Given the description of an element on the screen output the (x, y) to click on. 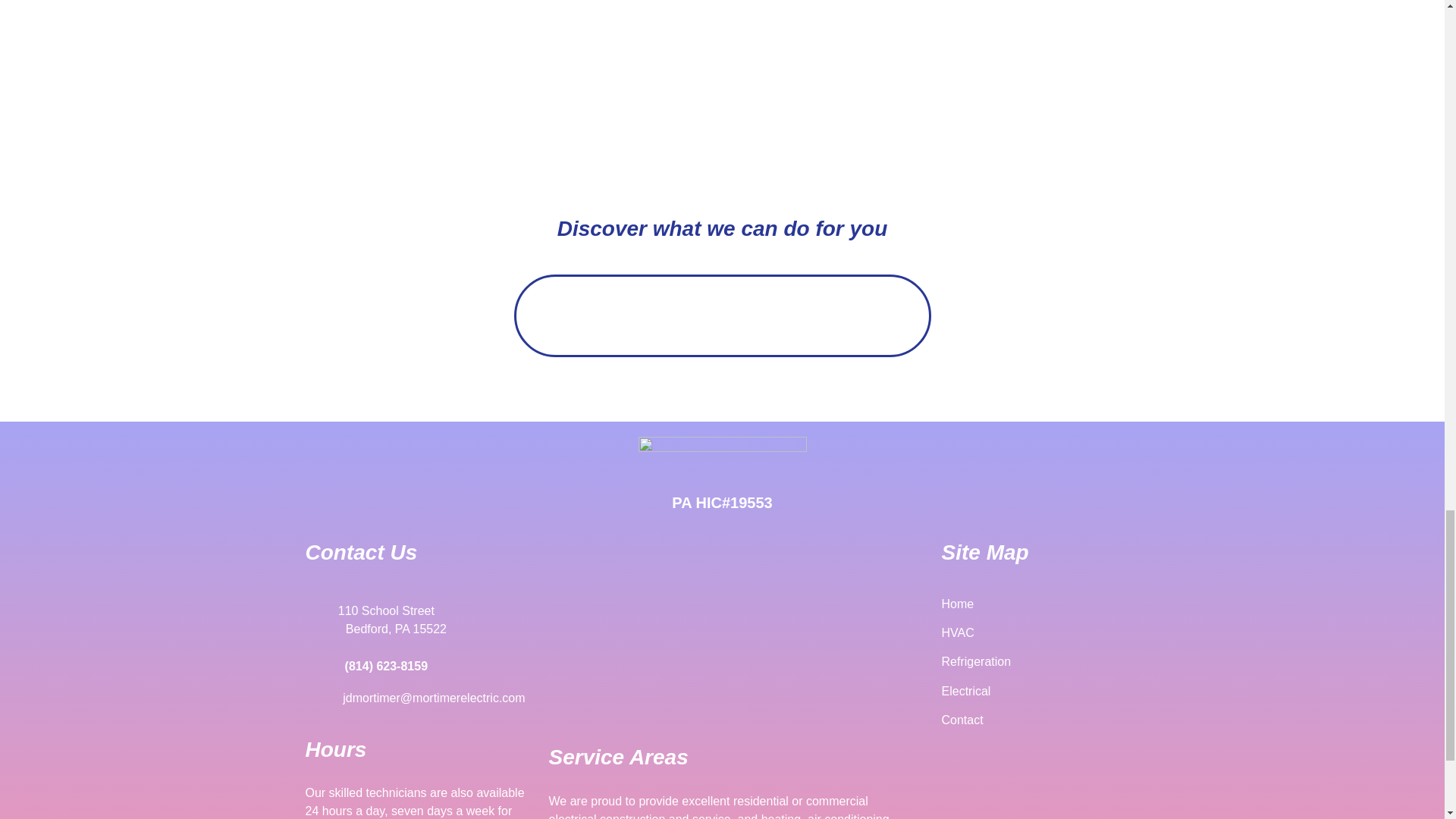
Refrigeration (976, 661)
Contact (963, 719)
     110 School Street (368, 610)
Home (958, 603)
Electrical (966, 690)
110 School Street Bedford, PA 15522 (727, 631)
HVAC (958, 632)
